Given the description of an element on the screen output the (x, y) to click on. 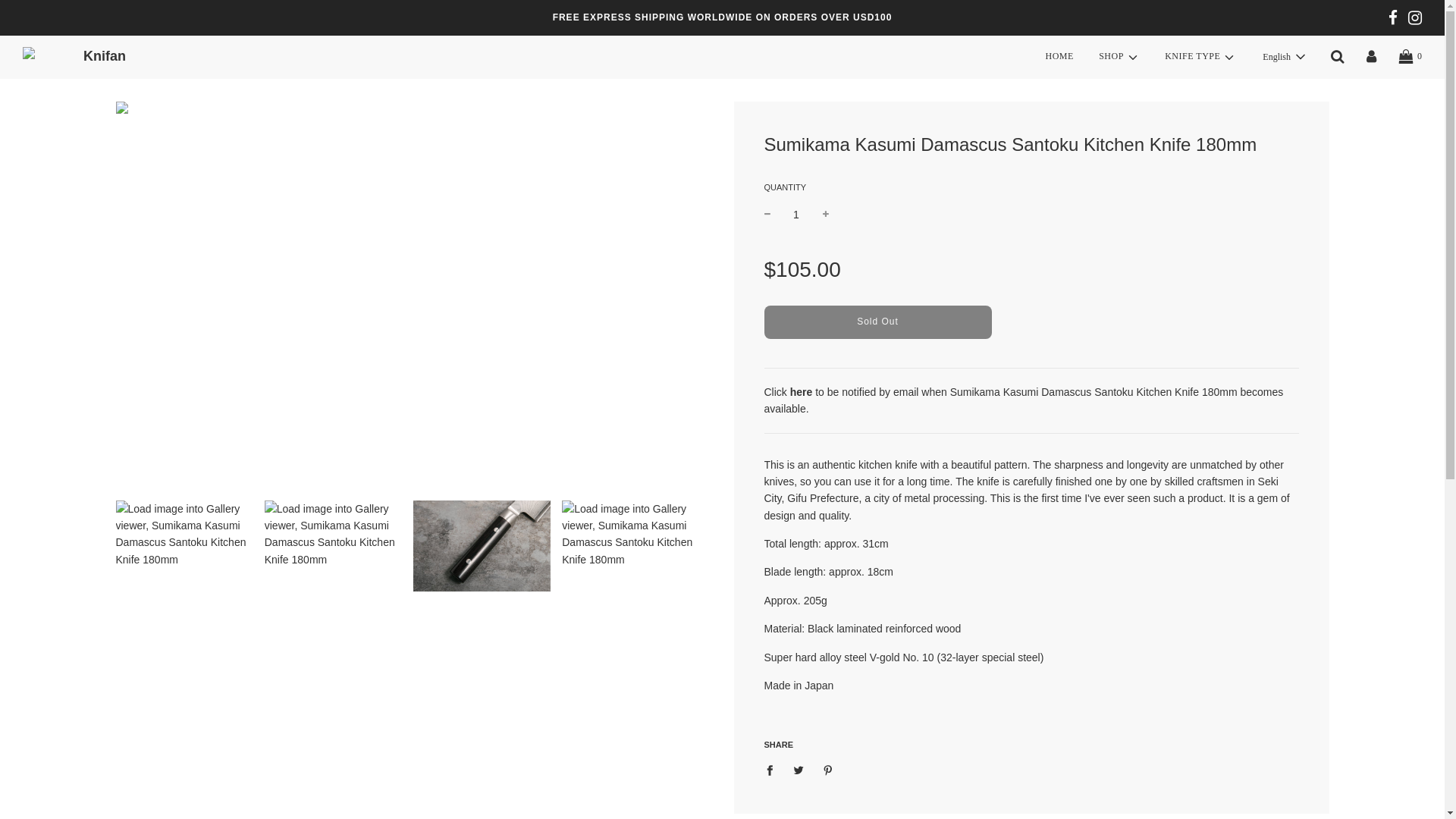
1 (796, 214)
0 (1410, 56)
English (1284, 56)
Log in (1371, 56)
HOME (1058, 56)
SHOP (1119, 56)
KNIFE TYPE (1200, 56)
